Given the description of an element on the screen output the (x, y) to click on. 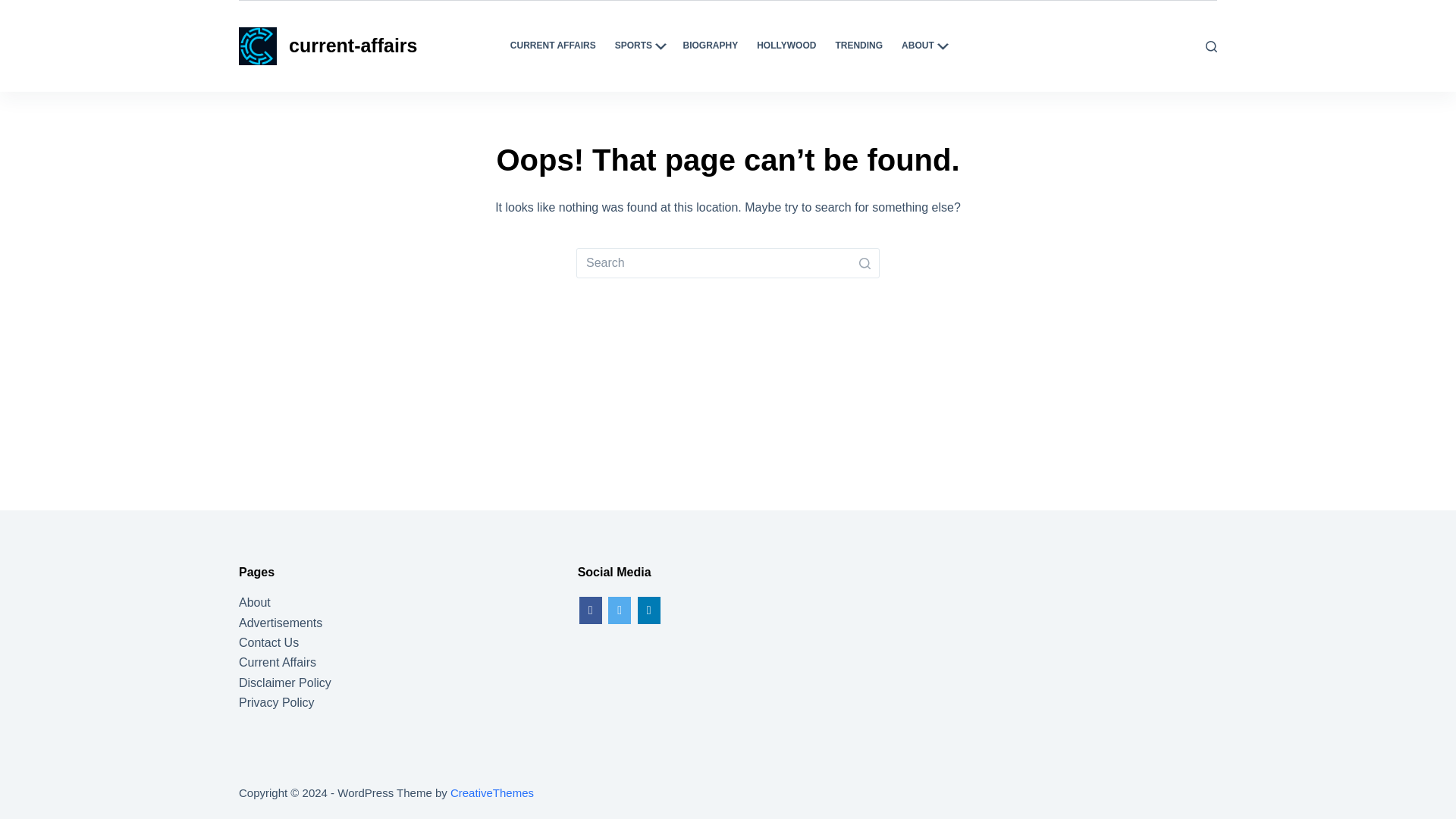
Current Affairs (276, 662)
Contact Us (268, 642)
About (254, 602)
Disclaimer Policy (284, 682)
Advertisements (279, 622)
CURRENT AFFAIRS (552, 45)
Search for... (727, 263)
Skip to content (15, 7)
current-affairs (352, 45)
